Given the description of an element on the screen output the (x, y) to click on. 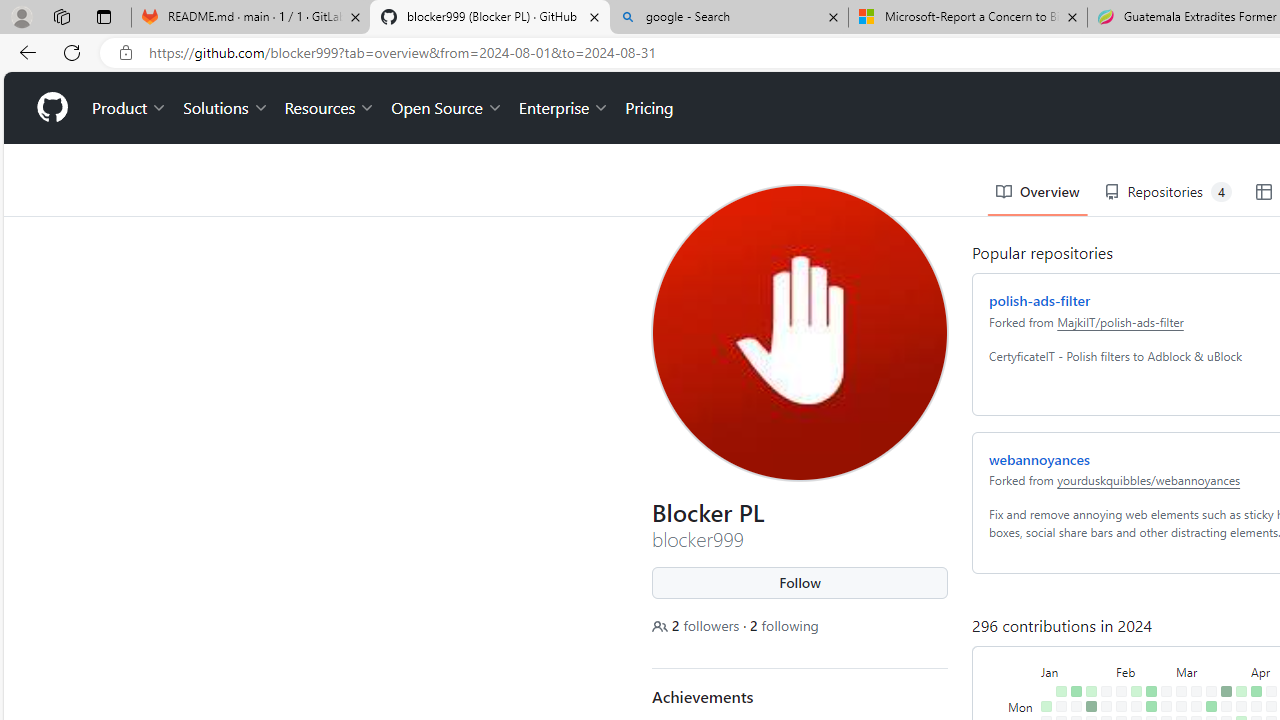
1 contribution on January 1st. (1042, 634)
No contributions on January 26th. (1087, 694)
5 contributions on February 19th. (1147, 634)
1 contribution on March 8th. (1177, 694)
Solutions (221, 35)
No contributions on March 28th. (1222, 678)
No contributions on January 29th. (1102, 634)
No contributions on April 14th. (1267, 619)
Resources (325, 35)
No contributions on February 13th. (1131, 649)
6 contributions on March 15th. (1192, 694)
Product (125, 35)
No contributions on March 17th. (1207, 619)
No contributions on February 8th. (1117, 678)
